Given the description of an element on the screen output the (x, y) to click on. 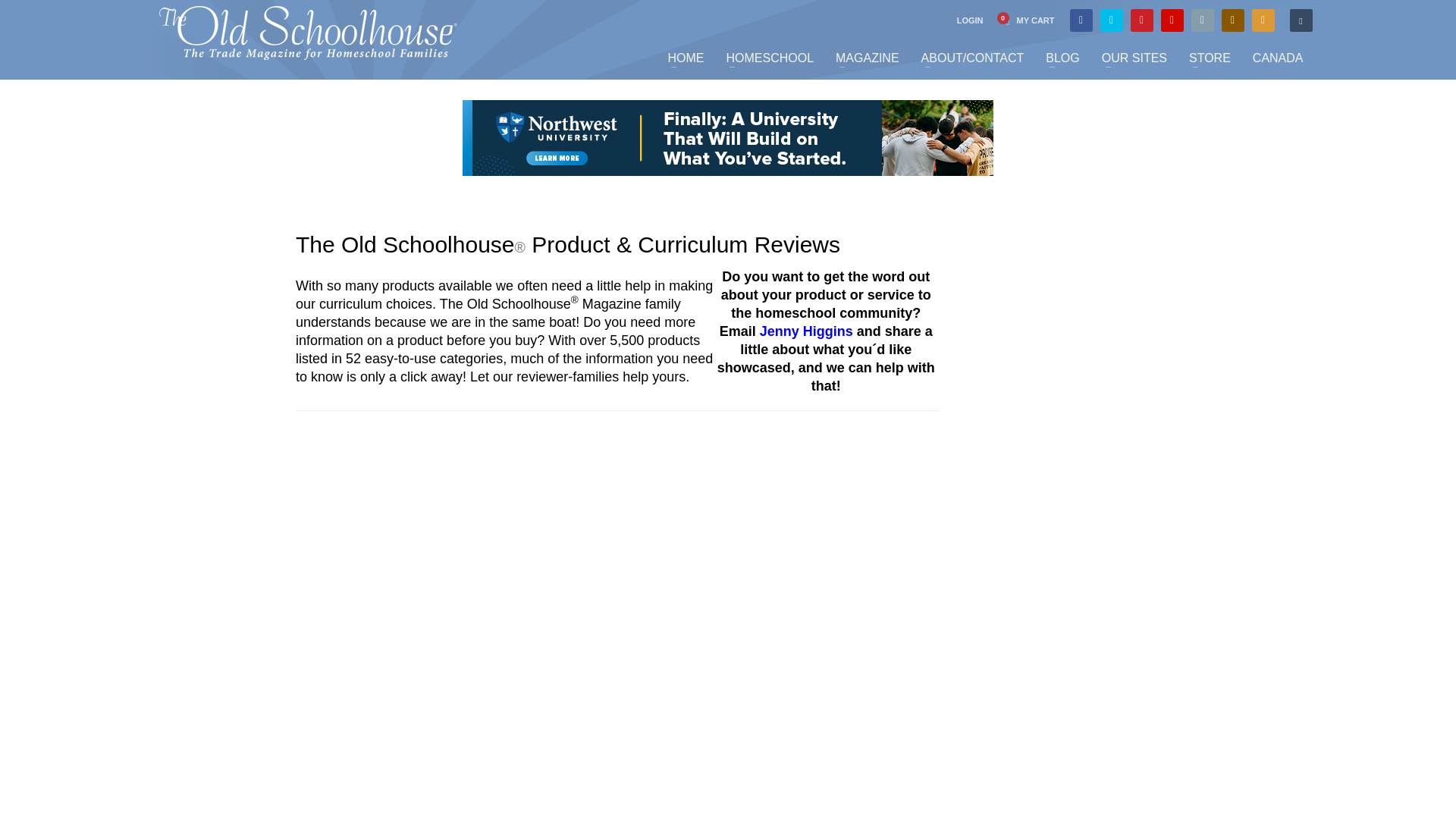
Pinterest (1142, 20)
Instagram (1232, 20)
LOGIN (970, 20)
iTunes (1202, 20)
YouTube (1171, 20)
RSS Feeds (1263, 20)
Twitter (1111, 20)
Facebook (1081, 20)
HOME (685, 57)
The Family Education Magazine (307, 32)
